Given the description of an element on the screen output the (x, y) to click on. 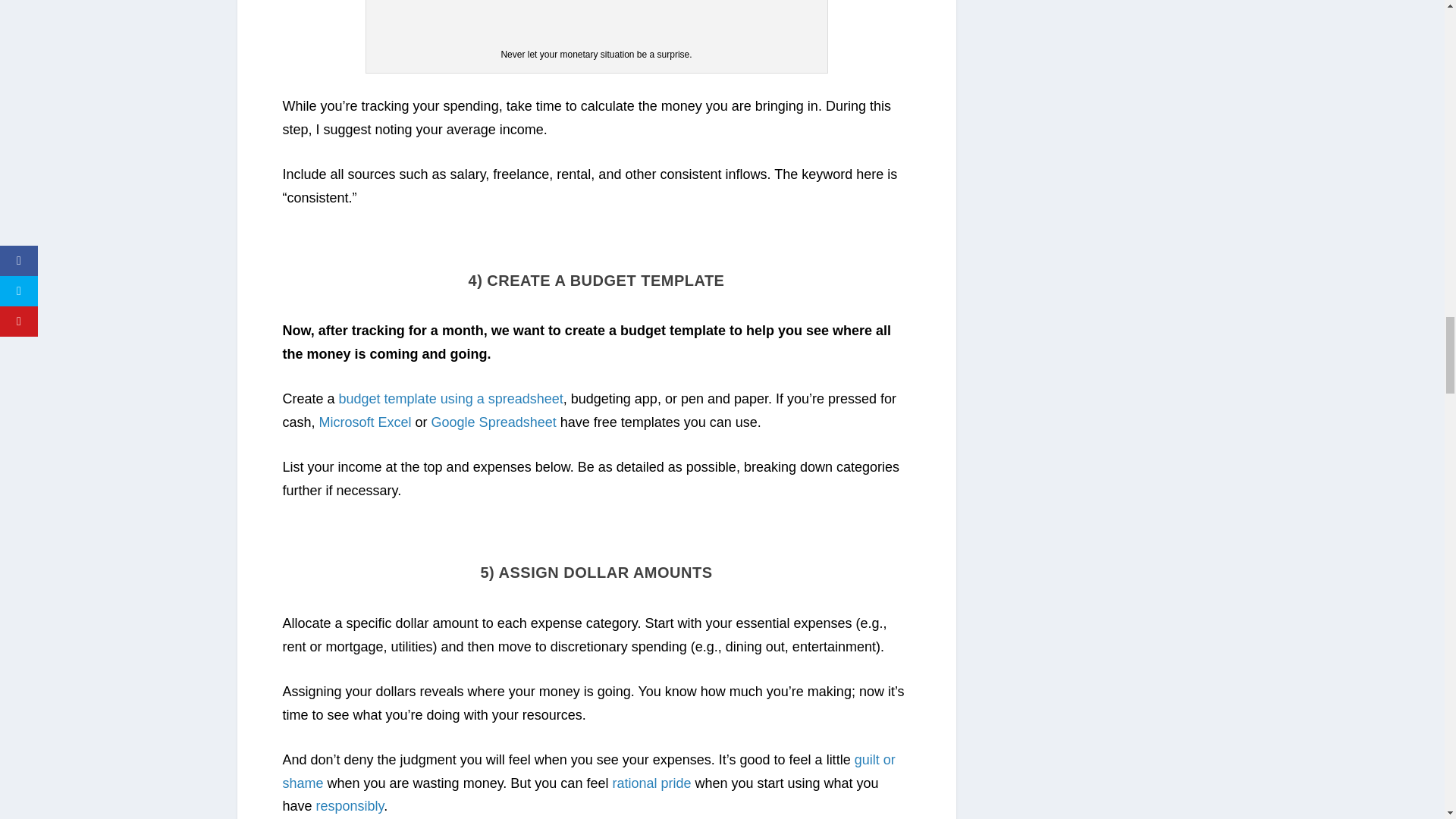
budget template using a spreadsheet (451, 398)
rational pride (650, 783)
Google Spreadsheet (493, 421)
responsibly (349, 806)
Microsoft Excel (365, 421)
guilt or shame (588, 771)
